Given the description of an element on the screen output the (x, y) to click on. 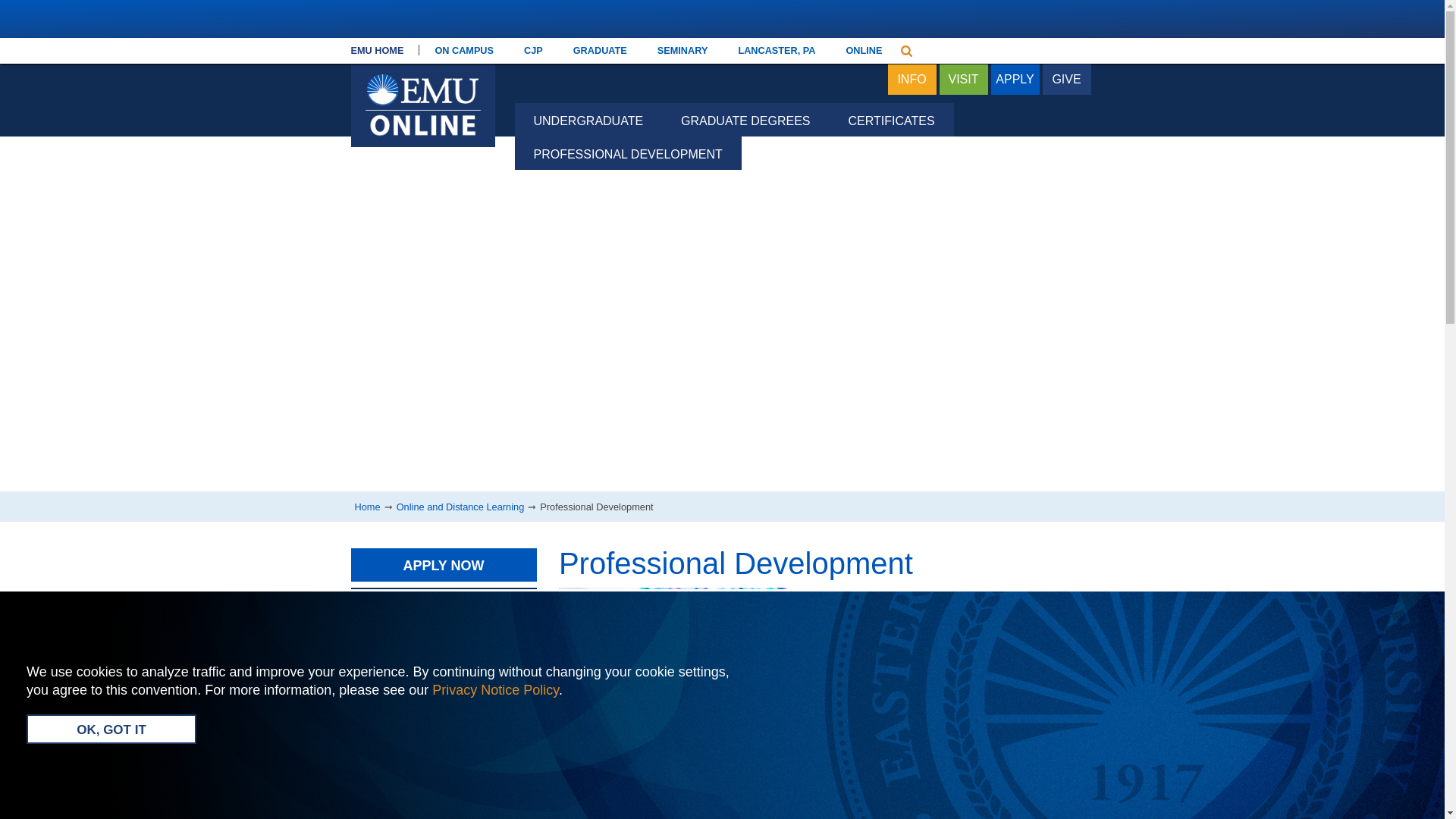
APPLY (1014, 79)
CJP (532, 50)
Skip Navigation (531, 54)
GRADUATE DEGREES (745, 119)
EMU in Virginia (422, 78)
GIVE (1066, 79)
GRADUATE (599, 50)
Lancaster (775, 50)
Seminary (682, 50)
Apply (1014, 79)
ONLINE (862, 50)
CERTIFICATES (891, 119)
Skip the navigation (531, 54)
online (862, 50)
VISIT (963, 79)
